Given the description of an element on the screen output the (x, y) to click on. 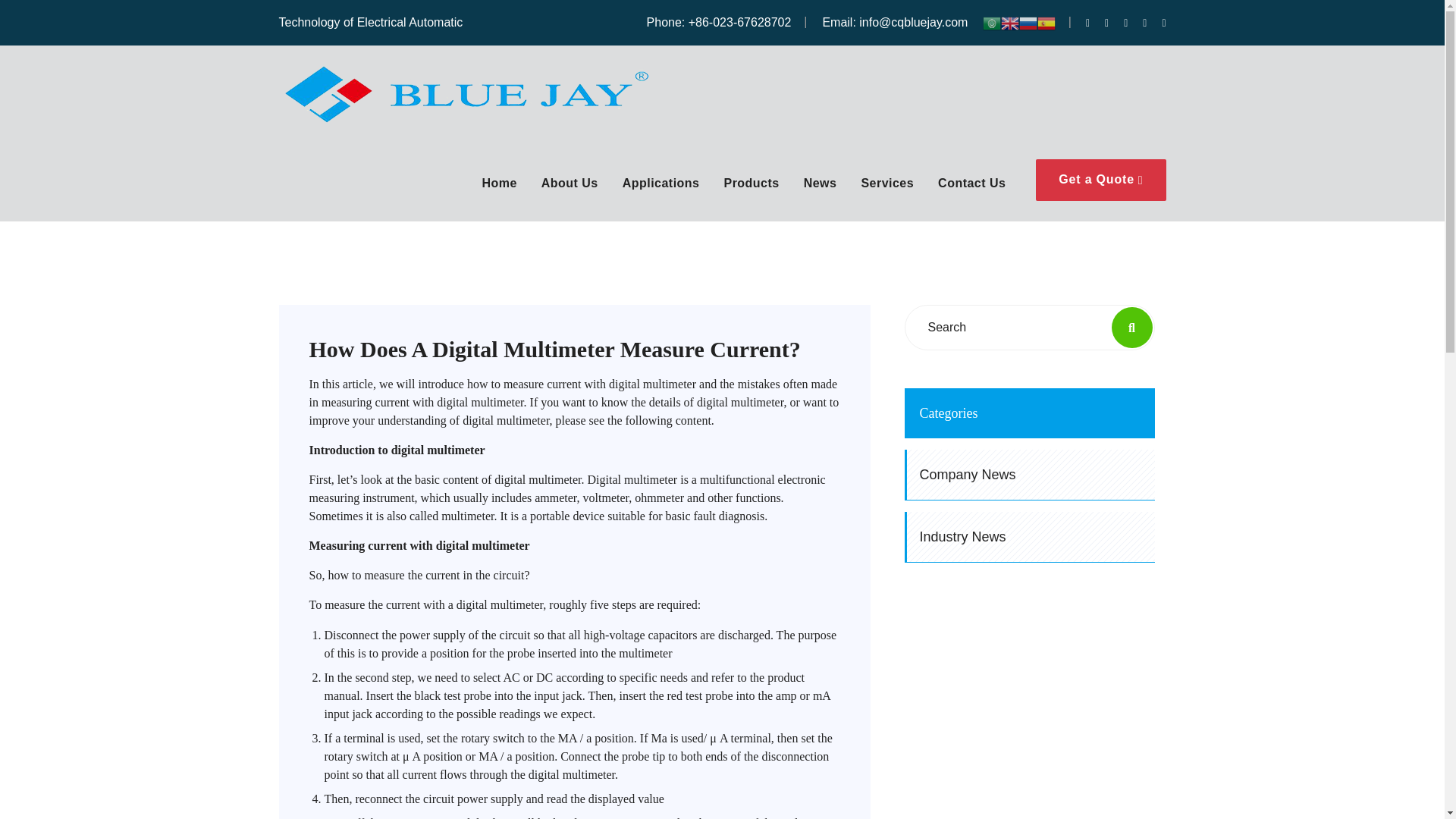
About Us (569, 188)
Arabic (991, 21)
Russian (1027, 21)
English (1010, 21)
Products (750, 188)
News (820, 188)
Spanish (1045, 21)
Home (498, 188)
Applications (661, 188)
